Given the description of an element on the screen output the (x, y) to click on. 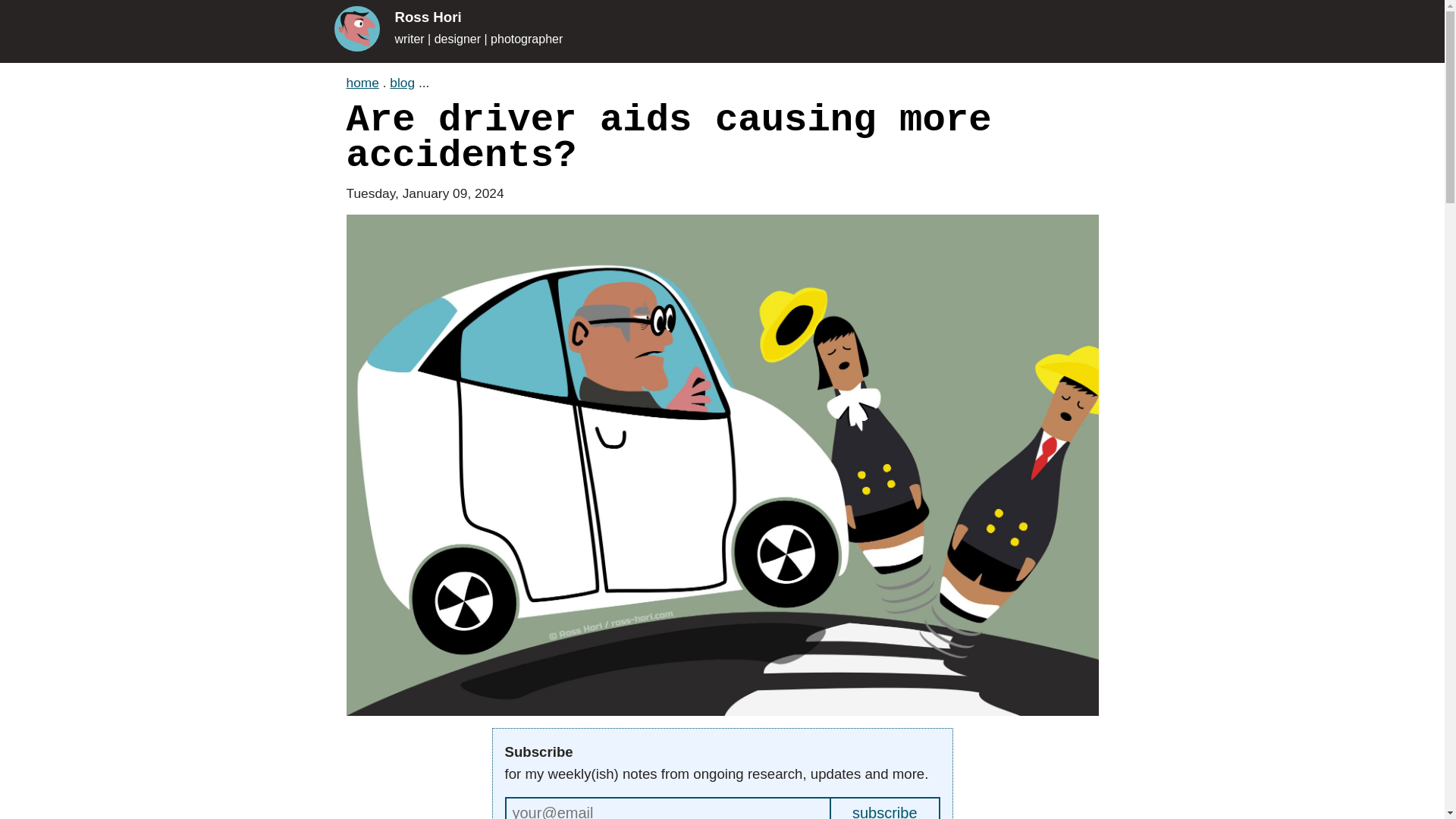
subscribe (885, 807)
blog (402, 82)
home (362, 82)
